Given the description of an element on the screen output the (x, y) to click on. 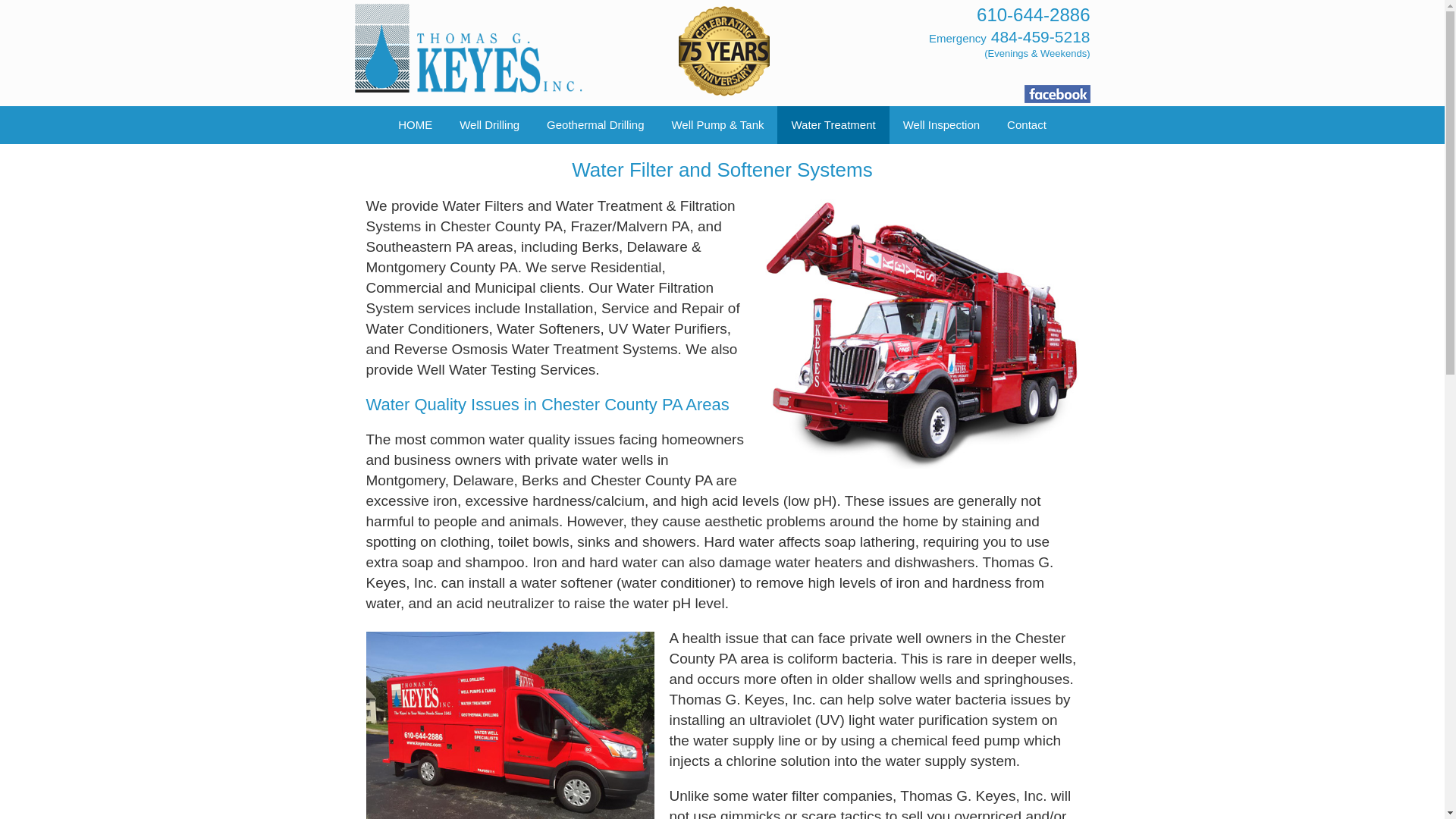
HOME (414, 125)
610-644-2886 (1032, 14)
Geothermal Drilling (595, 125)
Water Treatment (832, 125)
484-459-5218 (1040, 36)
Well Inspection (940, 125)
Well Drilling (488, 125)
Contact (1025, 125)
